Given the description of an element on the screen output the (x, y) to click on. 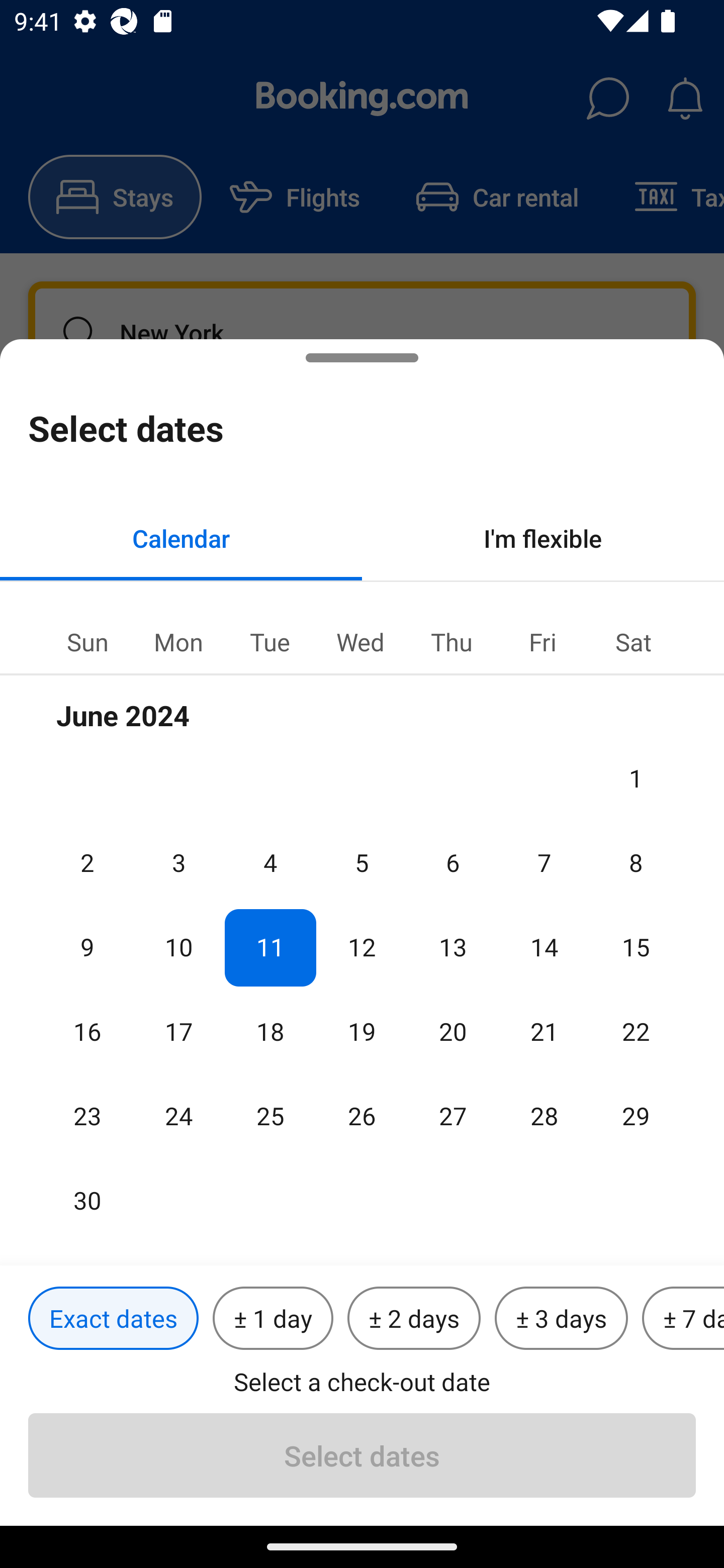
I'm flexible (543, 537)
Exact dates (113, 1318)
± 1 day (272, 1318)
± 2 days (413, 1318)
± 3 days (560, 1318)
± 7 days (683, 1318)
Select dates (361, 1454)
